Given the description of an element on the screen output the (x, y) to click on. 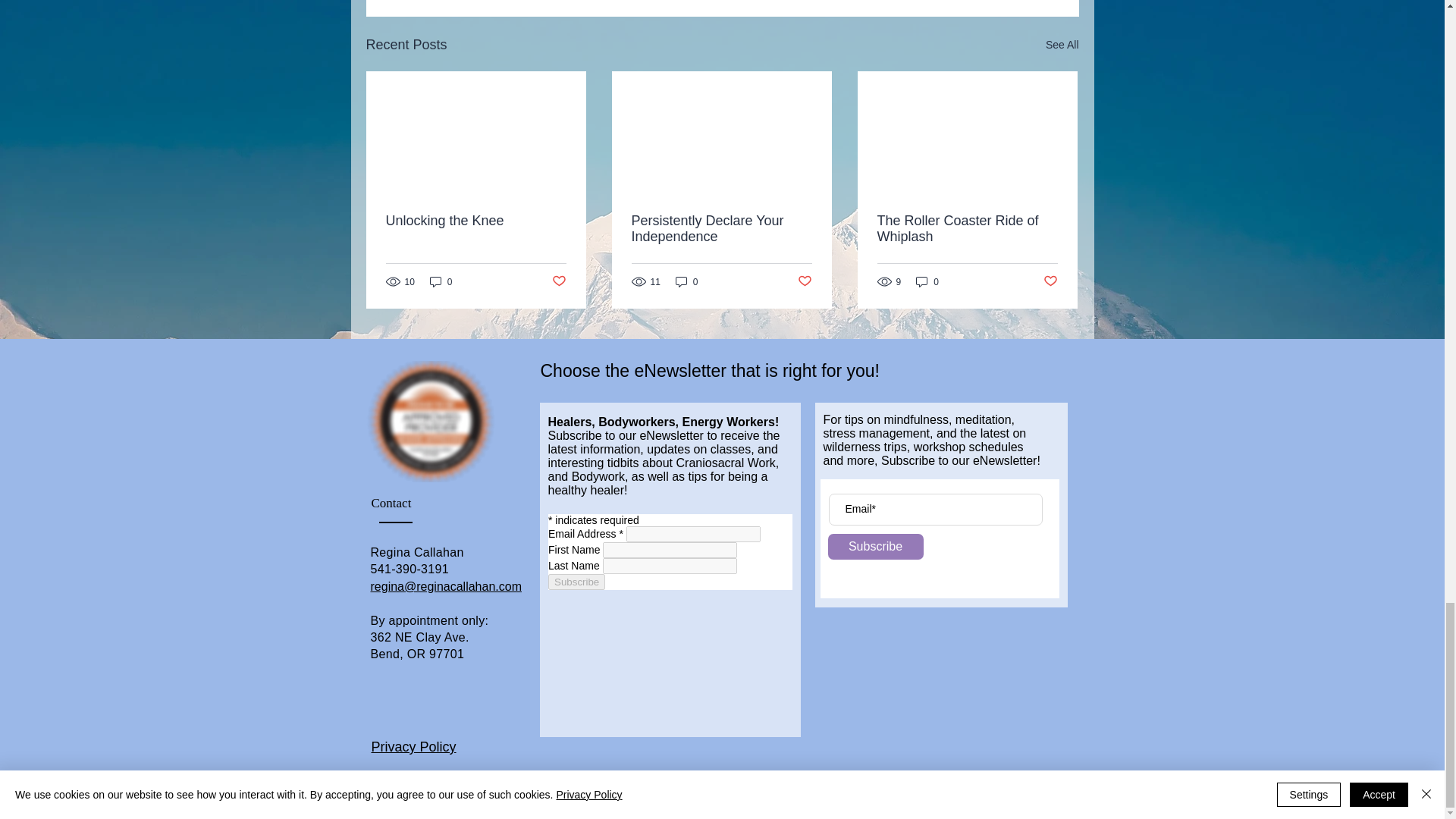
See All (1061, 45)
0 (441, 281)
Post not marked as liked (558, 281)
Persistently Declare Your Independence (720, 228)
Unlocking the Knee (475, 220)
Embedded Content (669, 634)
Post not marked as liked (804, 281)
0 (687, 281)
